Given the description of an element on the screen output the (x, y) to click on. 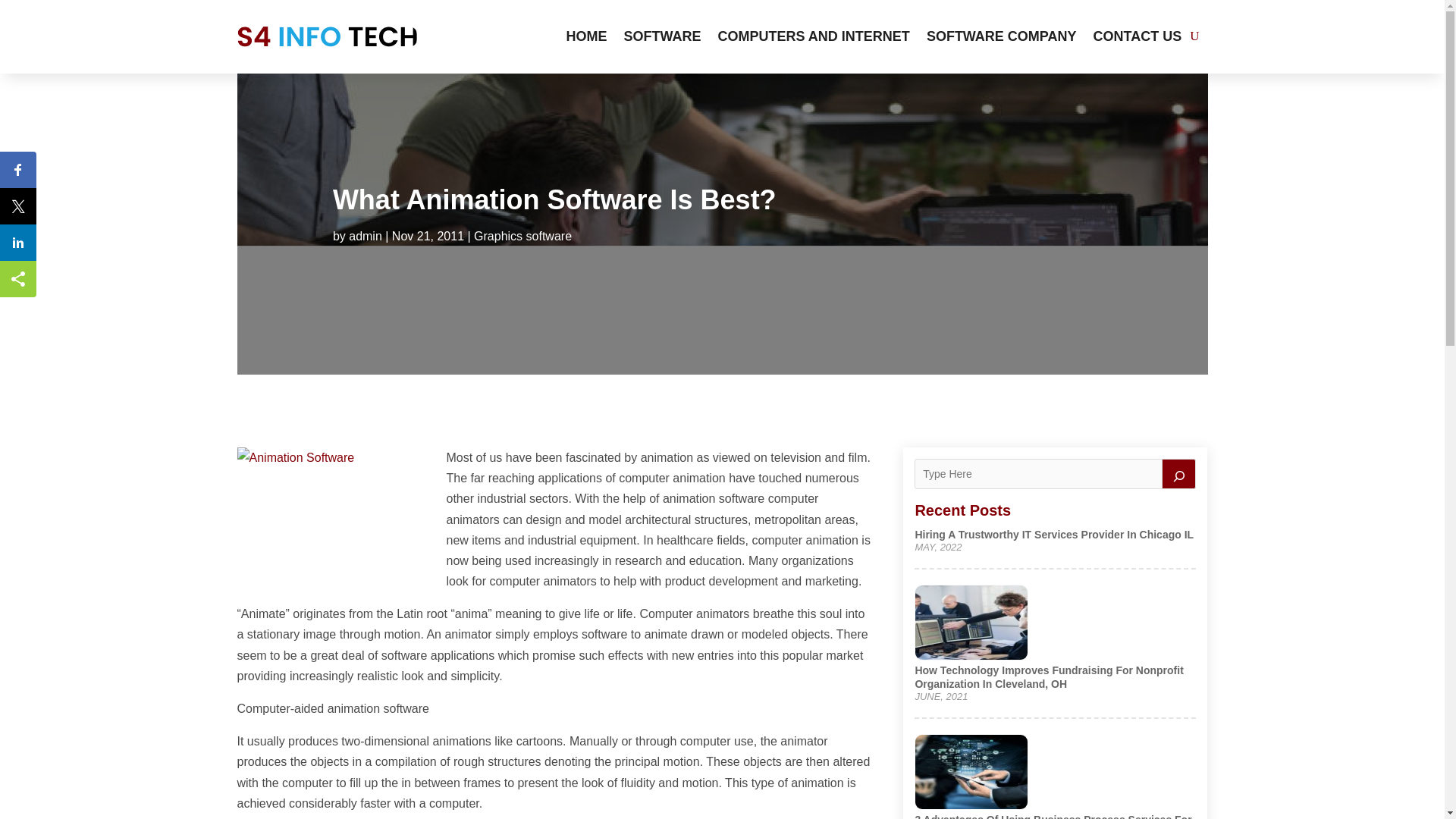
Posts by admin (365, 236)
Graphics software (523, 236)
Hiring A Trustworthy IT Services Provider In Chicago IL (1053, 534)
CONTACT US (1137, 36)
COMPUTERS AND INTERNET (813, 36)
SOFTWARE COMPANY (1001, 36)
admin (365, 236)
SOFTWARE (662, 36)
Animation Software (334, 520)
